Given the description of an element on the screen output the (x, y) to click on. 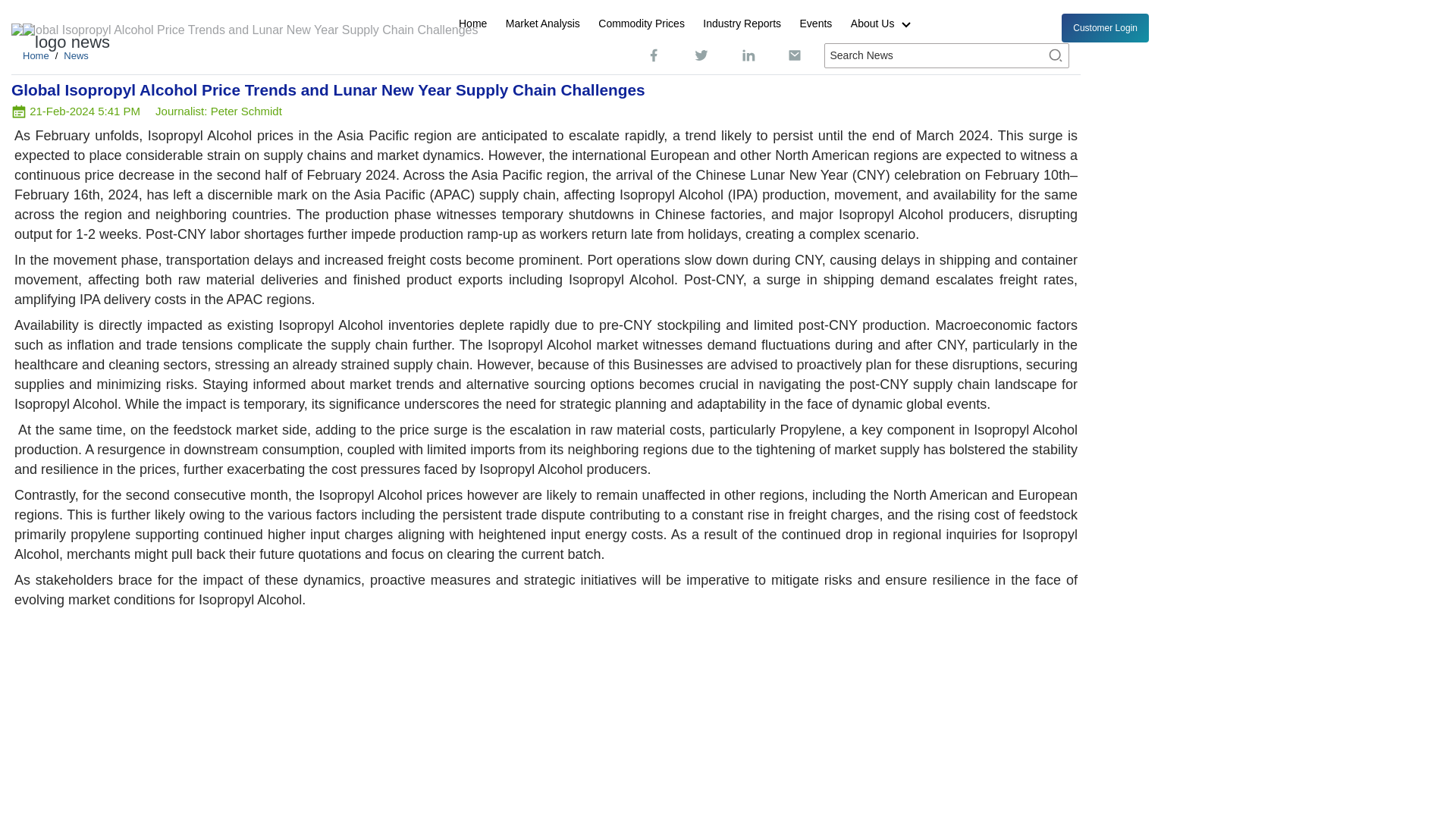
Market Analysis (542, 23)
Industry Reports (742, 23)
DEALS (253, 49)
NEWS (188, 49)
Events (816, 23)
Commodity Prices (642, 23)
About Us (886, 24)
Home (473, 23)
Customer Login (1104, 27)
Home (36, 55)
